Given the description of an element on the screen output the (x, y) to click on. 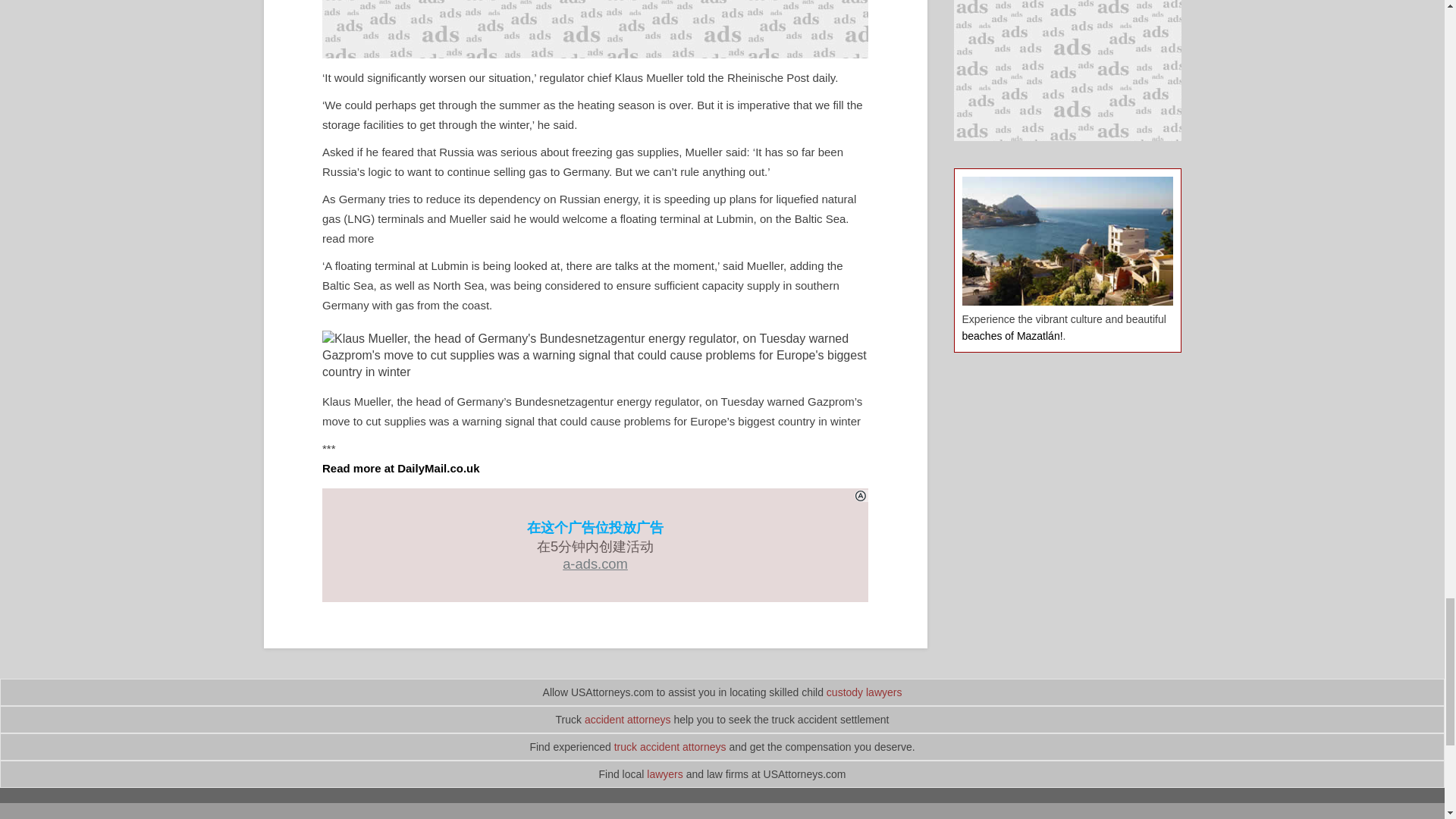
truck accident attorneys (670, 746)
Read more at DailyMail.co.uk (400, 468)
accident attorneys (628, 719)
custody lawyers (864, 692)
lawyers (664, 774)
